Given the description of an element on the screen output the (x, y) to click on. 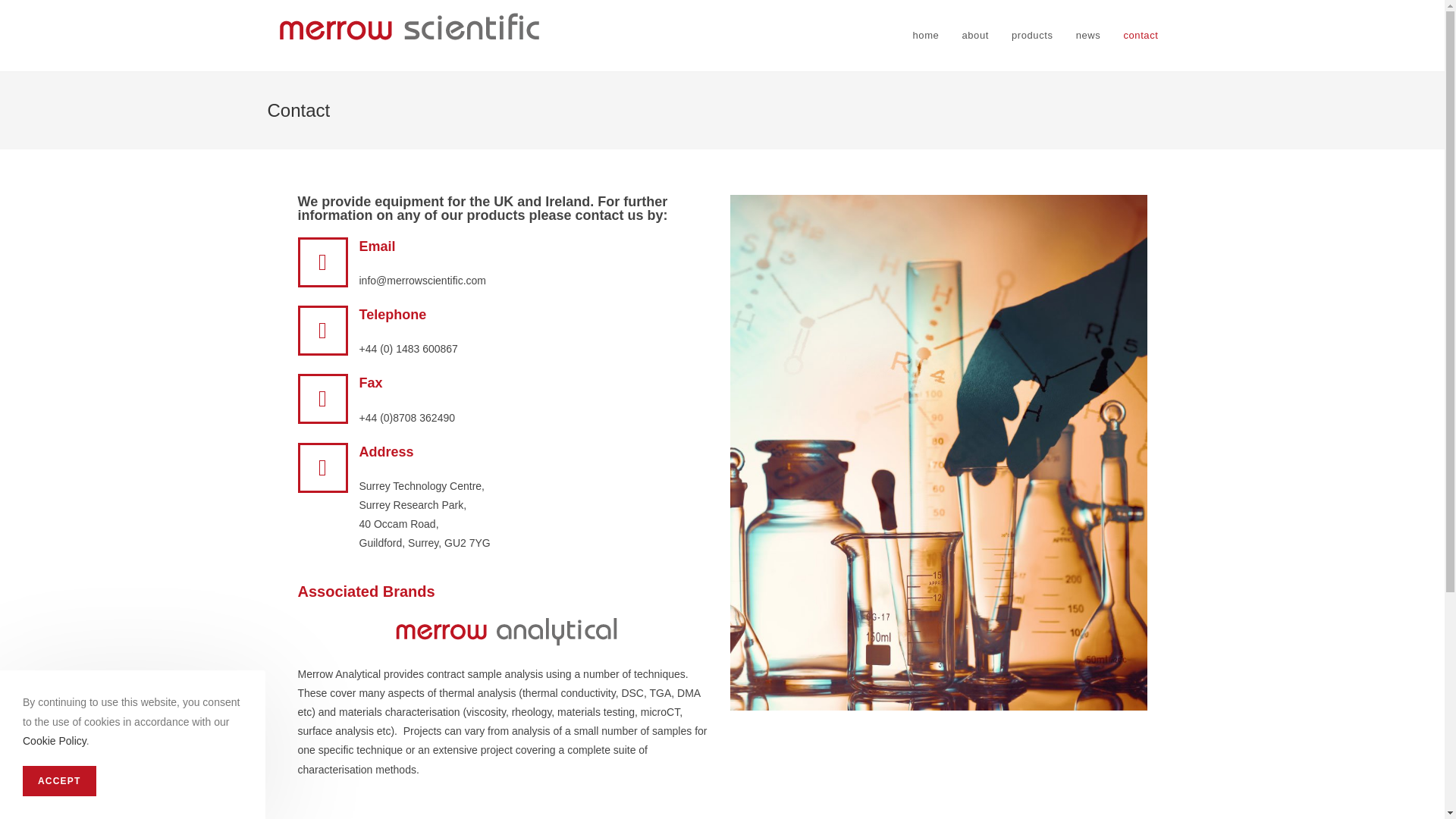
ACCEPT (59, 780)
products (1032, 35)
Email (377, 246)
contact (1140, 35)
about (975, 35)
Cookie Policy (54, 740)
